Given the description of an element on the screen output the (x, y) to click on. 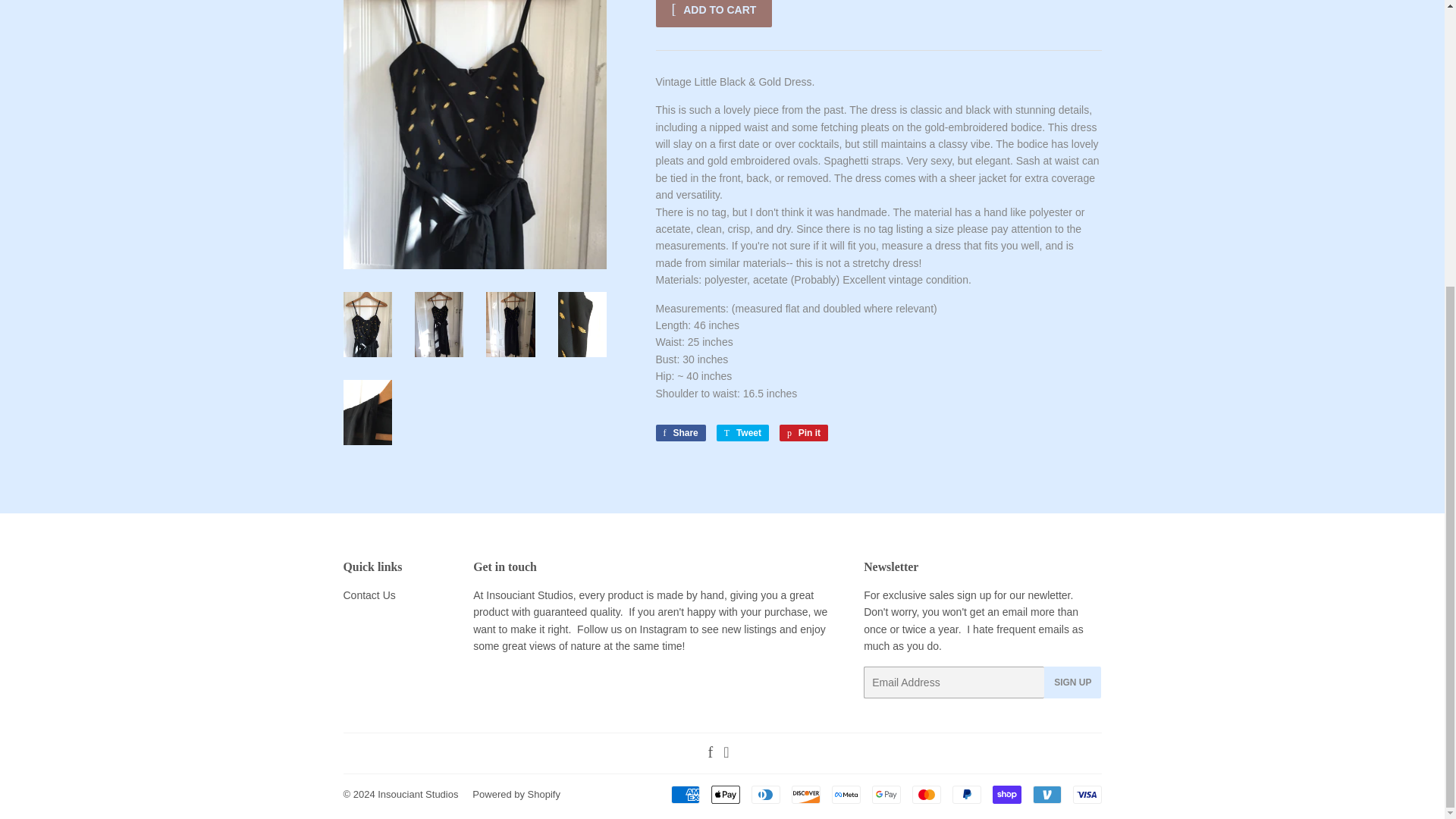
Meta Pay (845, 794)
Mastercard (925, 794)
Pin on Pinterest (803, 433)
Apple Pay (725, 794)
Google Pay (886, 794)
American Express (683, 794)
Diners Club (764, 794)
Discover (806, 794)
PayPal (966, 794)
Shop Pay (1005, 794)
Share on Facebook (679, 433)
Tweet on Twitter (742, 433)
Venmo (1046, 794)
Visa (1085, 794)
